Given the description of an element on the screen output the (x, y) to click on. 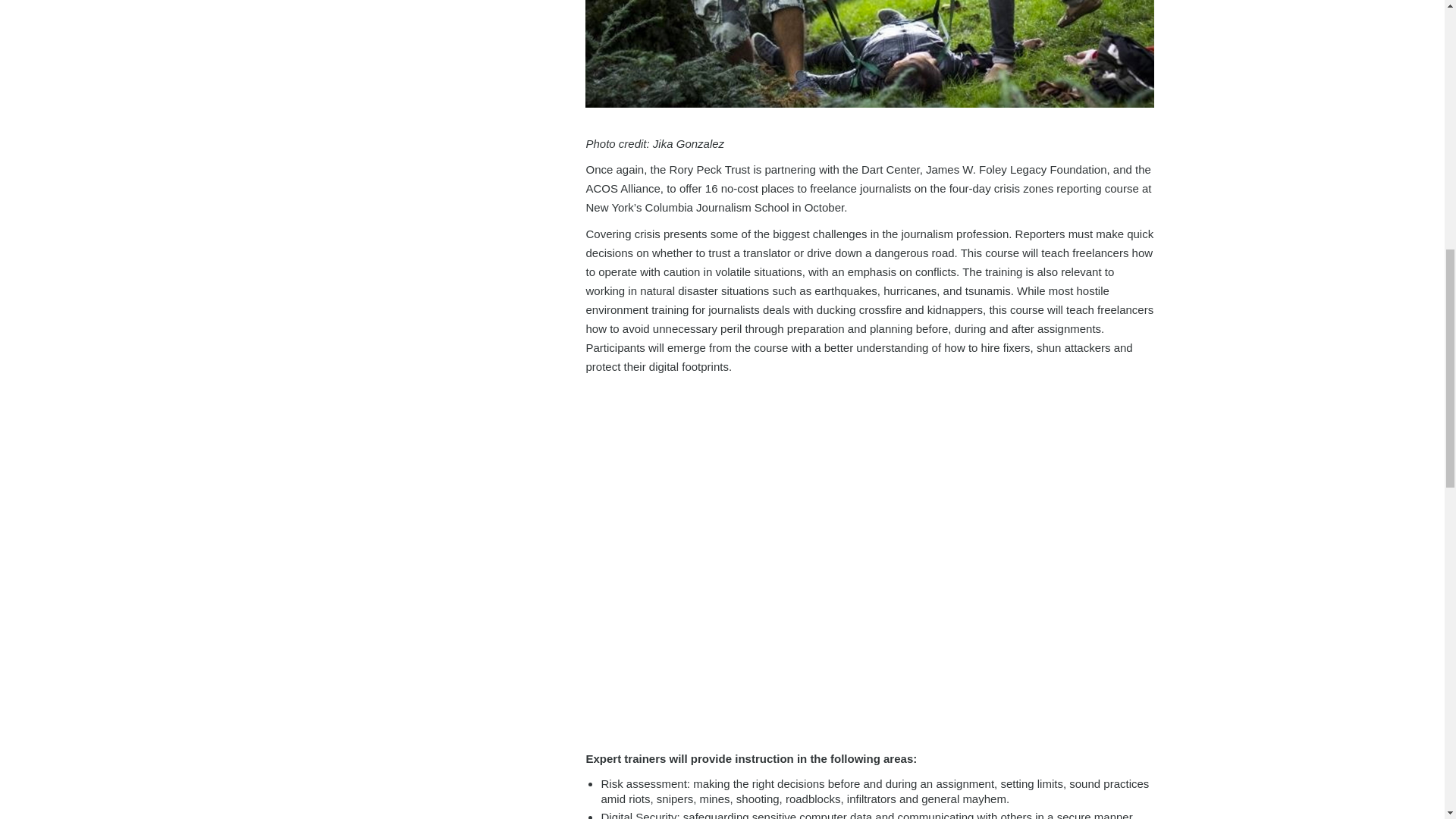
Reporting safely in crisis zones (869, 53)
